Given the description of an element on the screen output the (x, y) to click on. 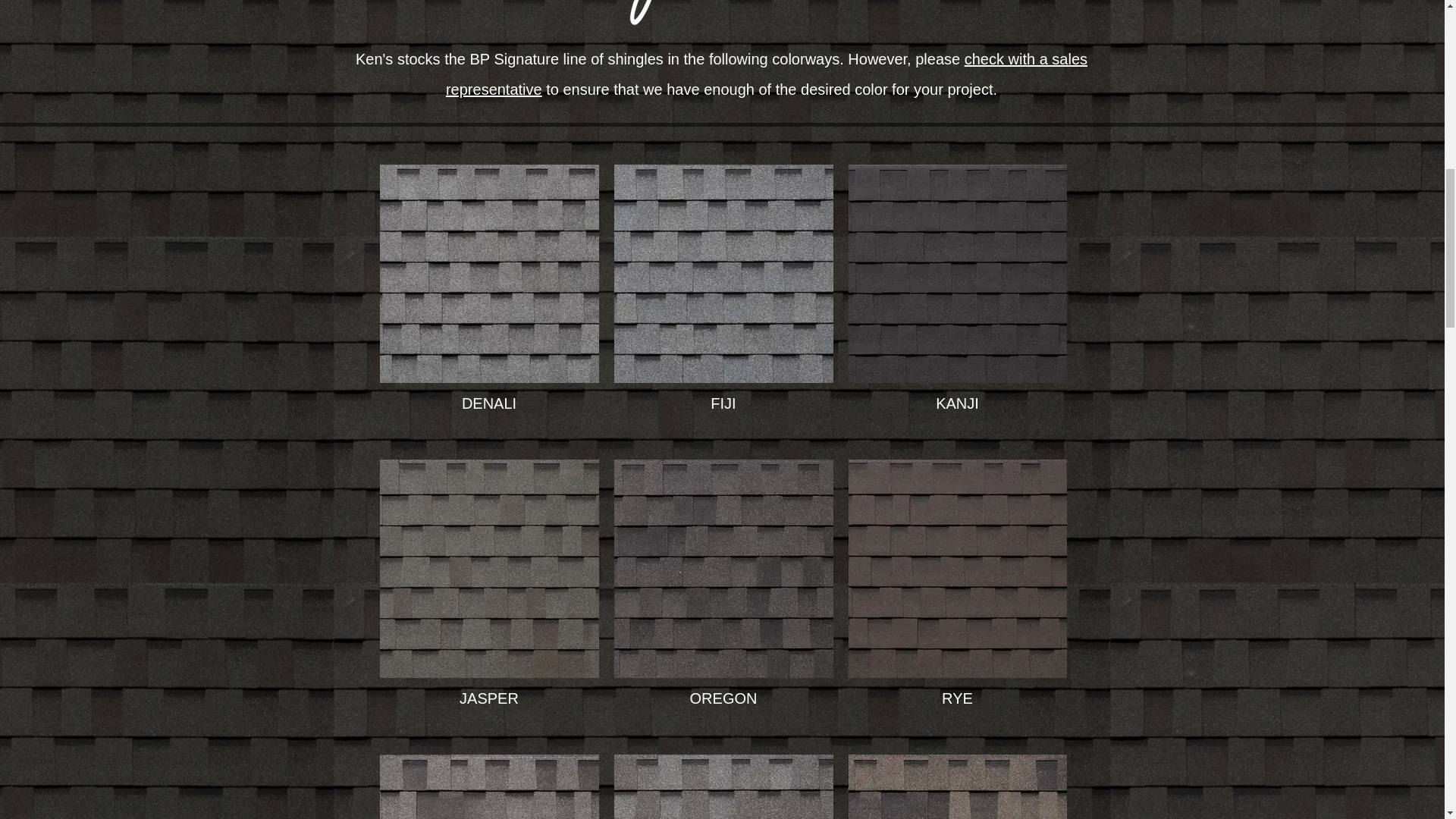
check with a sales representative (766, 73)
